Given the description of an element on the screen output the (x, y) to click on. 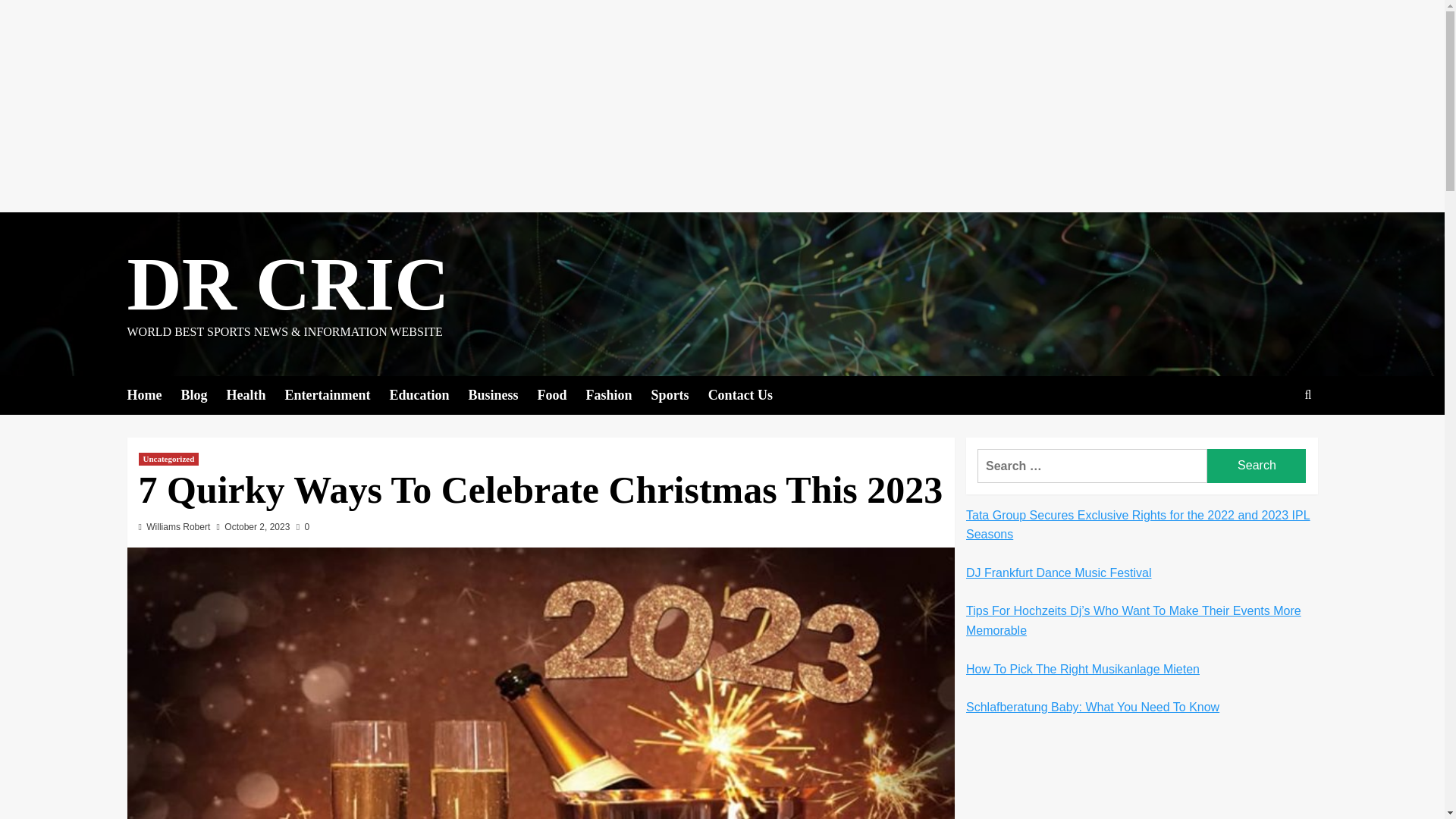
DR CRIC (288, 283)
Search (1256, 465)
Fashion (618, 394)
Search (1272, 441)
Williams Robert (178, 526)
Entertainment (337, 394)
Education (427, 394)
Uncategorized (168, 459)
Sports (678, 394)
Blog (202, 394)
Contact Us (749, 394)
Health (254, 394)
Business (502, 394)
October 2, 2023 (256, 526)
